Given the description of an element on the screen output the (x, y) to click on. 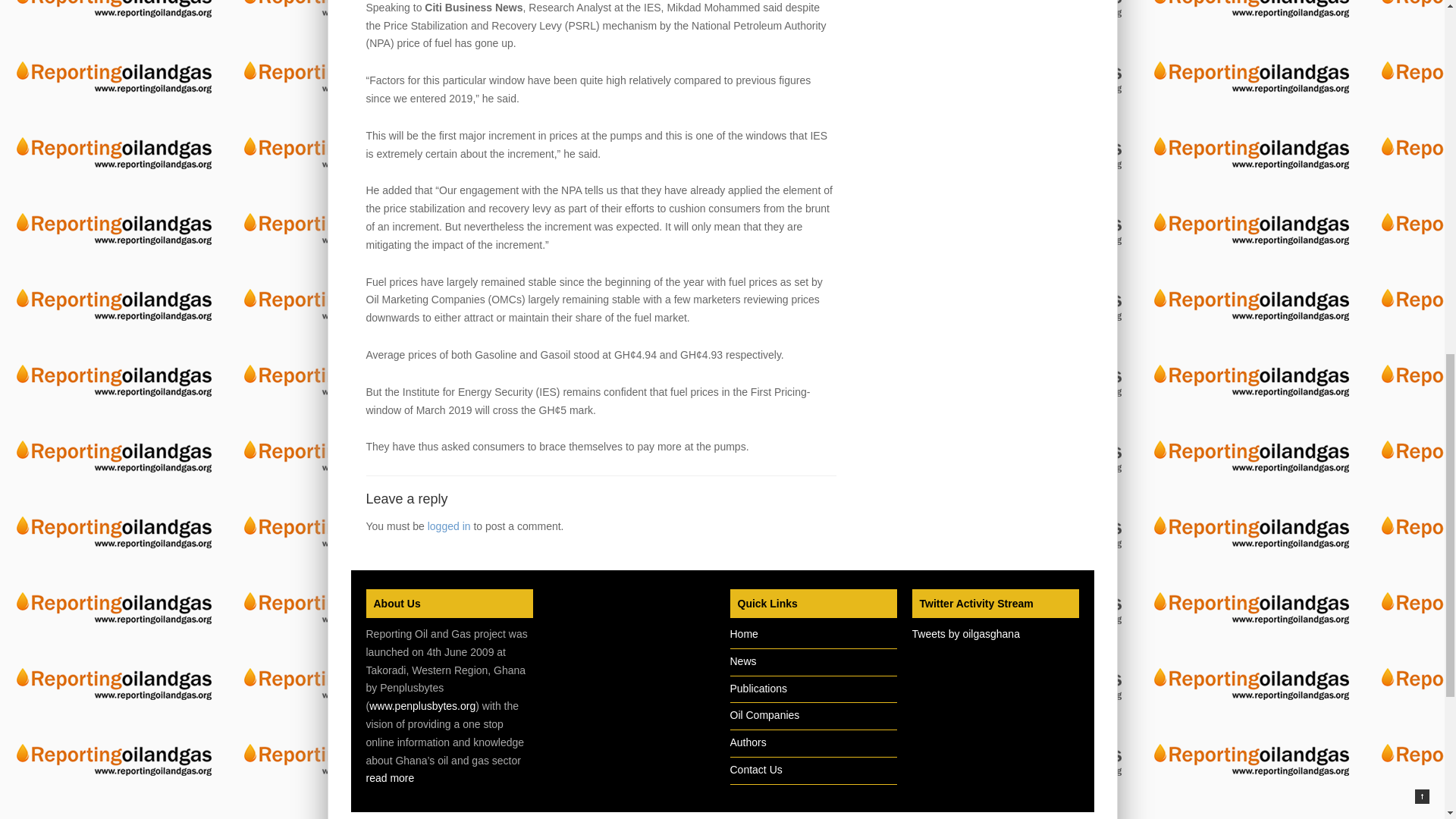
read more (389, 777)
Contact Us (755, 769)
Publications (758, 688)
News (742, 661)
Home (743, 633)
Authors (747, 742)
www.penplusbytes.org (422, 705)
logged in (449, 526)
Oil Companies (764, 715)
Tweets by oilgasghana (965, 633)
